Given the description of an element on the screen output the (x, y) to click on. 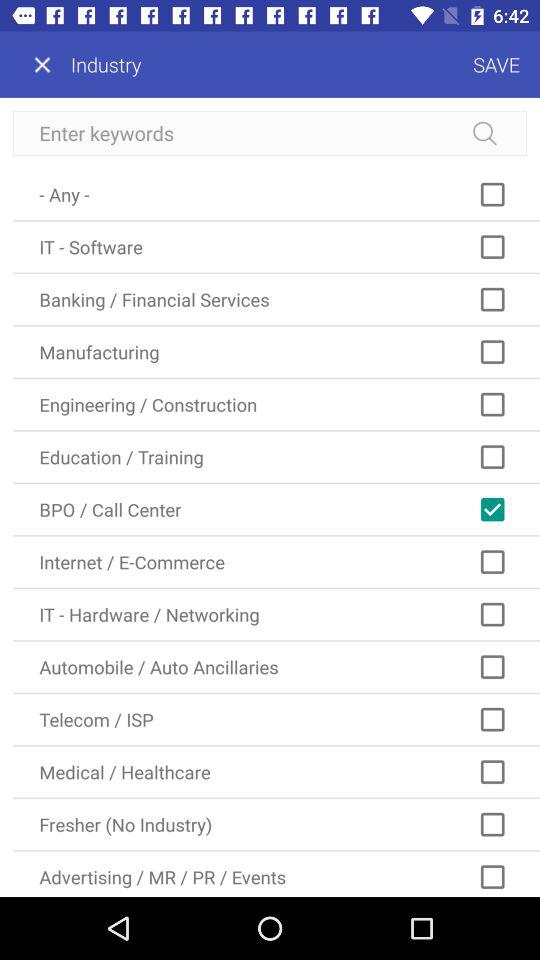
tap the icon next to the industry item (340, 64)
